Given the description of an element on the screen output the (x, y) to click on. 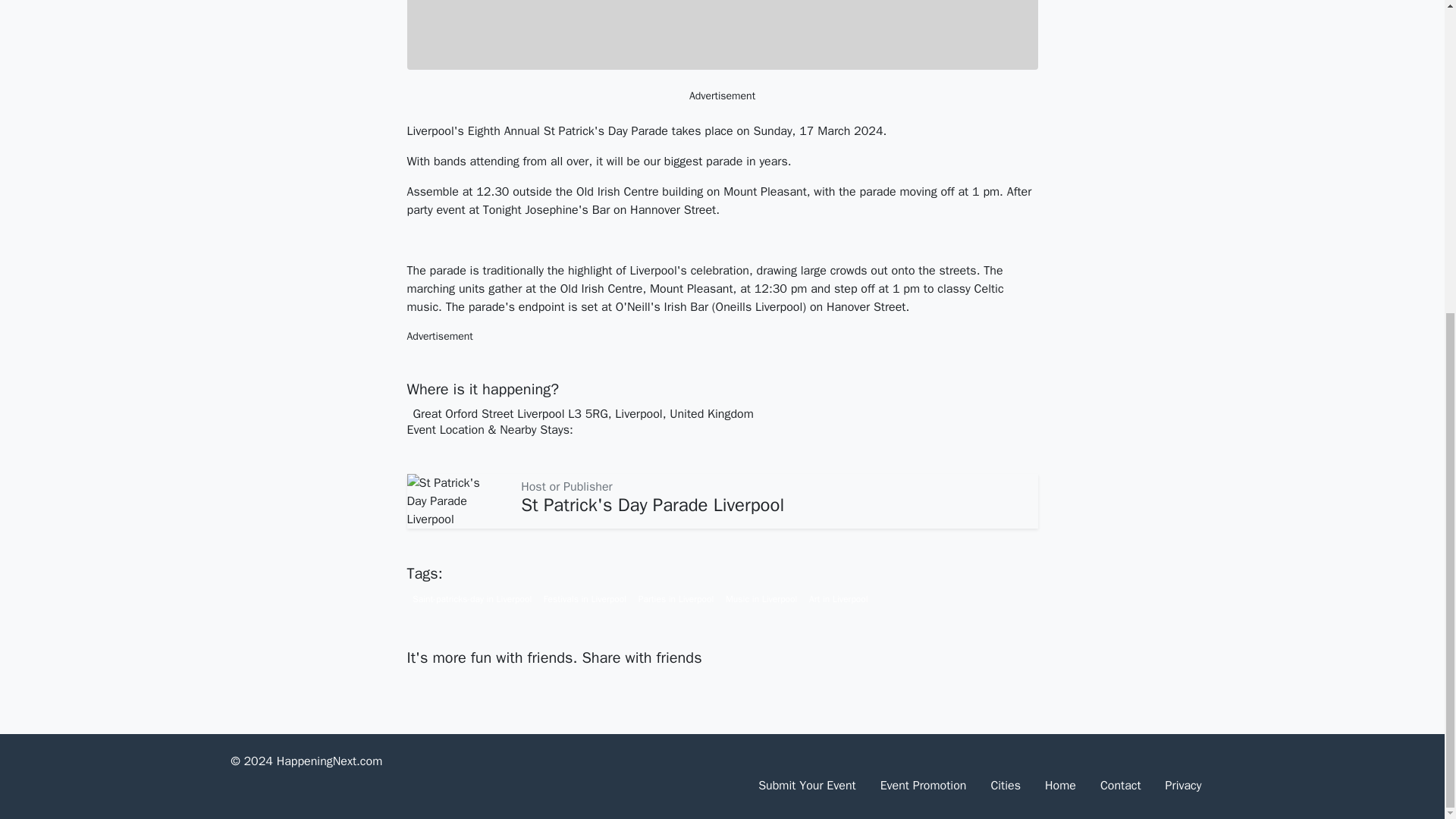
Event Promotion (922, 785)
Contact Us (1120, 785)
Privacy (1183, 785)
Submit Your Event (806, 785)
Contact (1120, 785)
Submit Your Event (806, 785)
Liverpool upcoming art Events (838, 598)
Music in Liverpool (761, 598)
Parties in Liverpool (675, 598)
Privacy Policy (1183, 785)
Saint-patricks-day in Liverpool (471, 598)
HappeningNext Homepage (1059, 785)
Select Your City (1005, 785)
Home (1059, 785)
Liverpool upcoming music Events (761, 598)
